Given the description of an element on the screen output the (x, y) to click on. 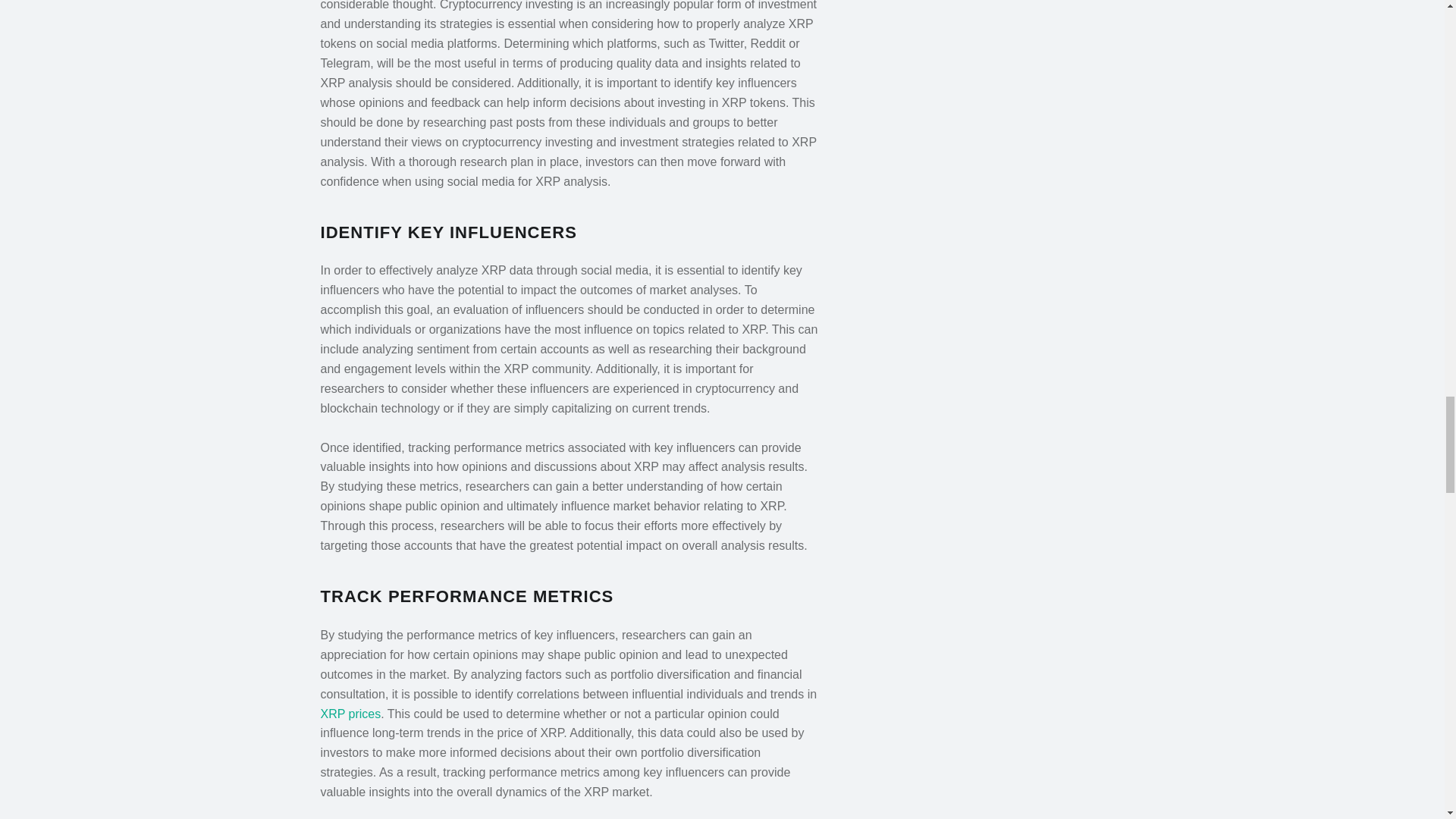
XRP prices (350, 713)
XRP prices (350, 713)
